Given the description of an element on the screen output the (x, y) to click on. 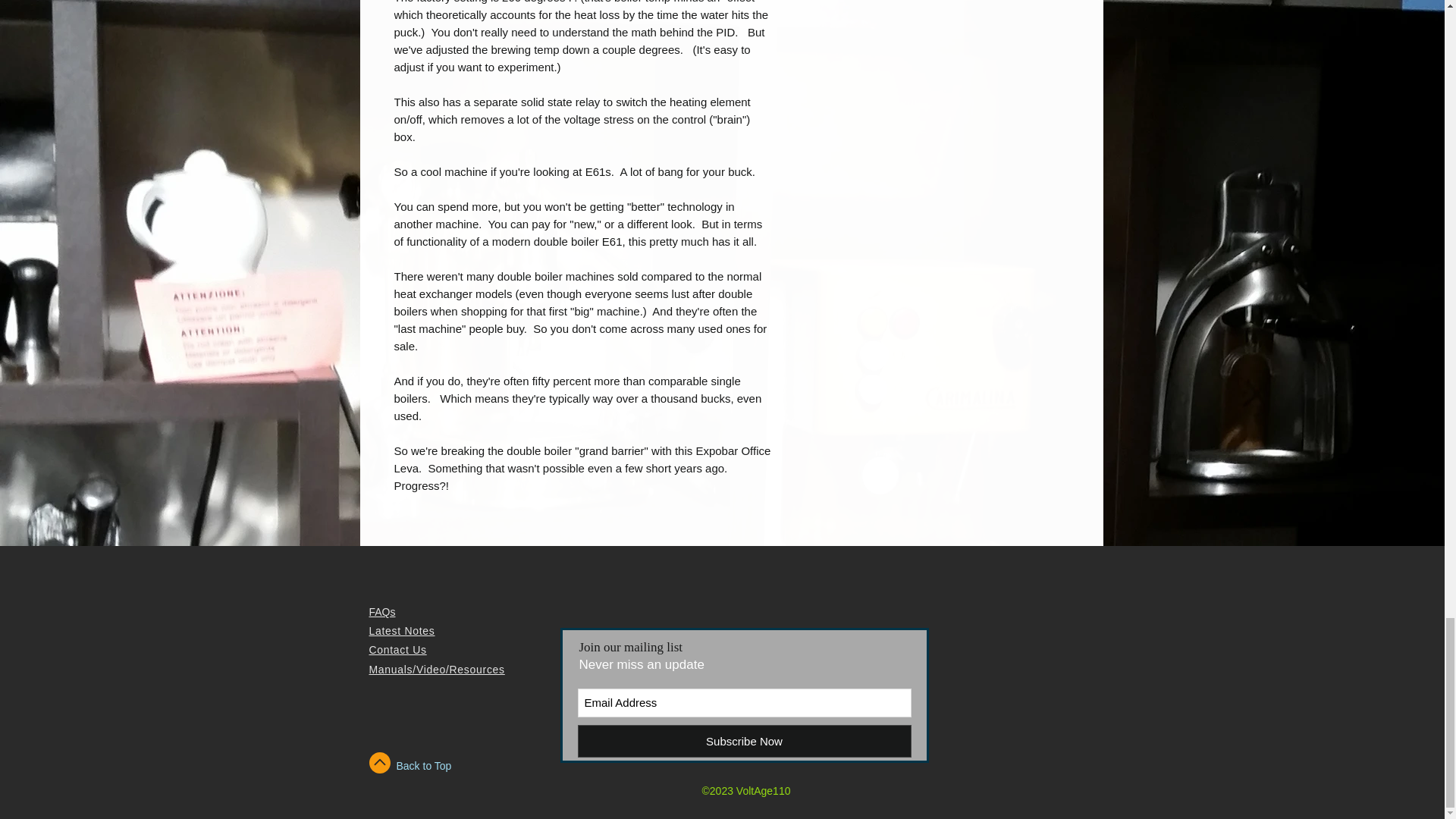
FAQs (381, 612)
Contact Us (397, 649)
Latest Notes (400, 630)
Subscribe Now (744, 740)
Back to Top (423, 766)
